Given the description of an element on the screen output the (x, y) to click on. 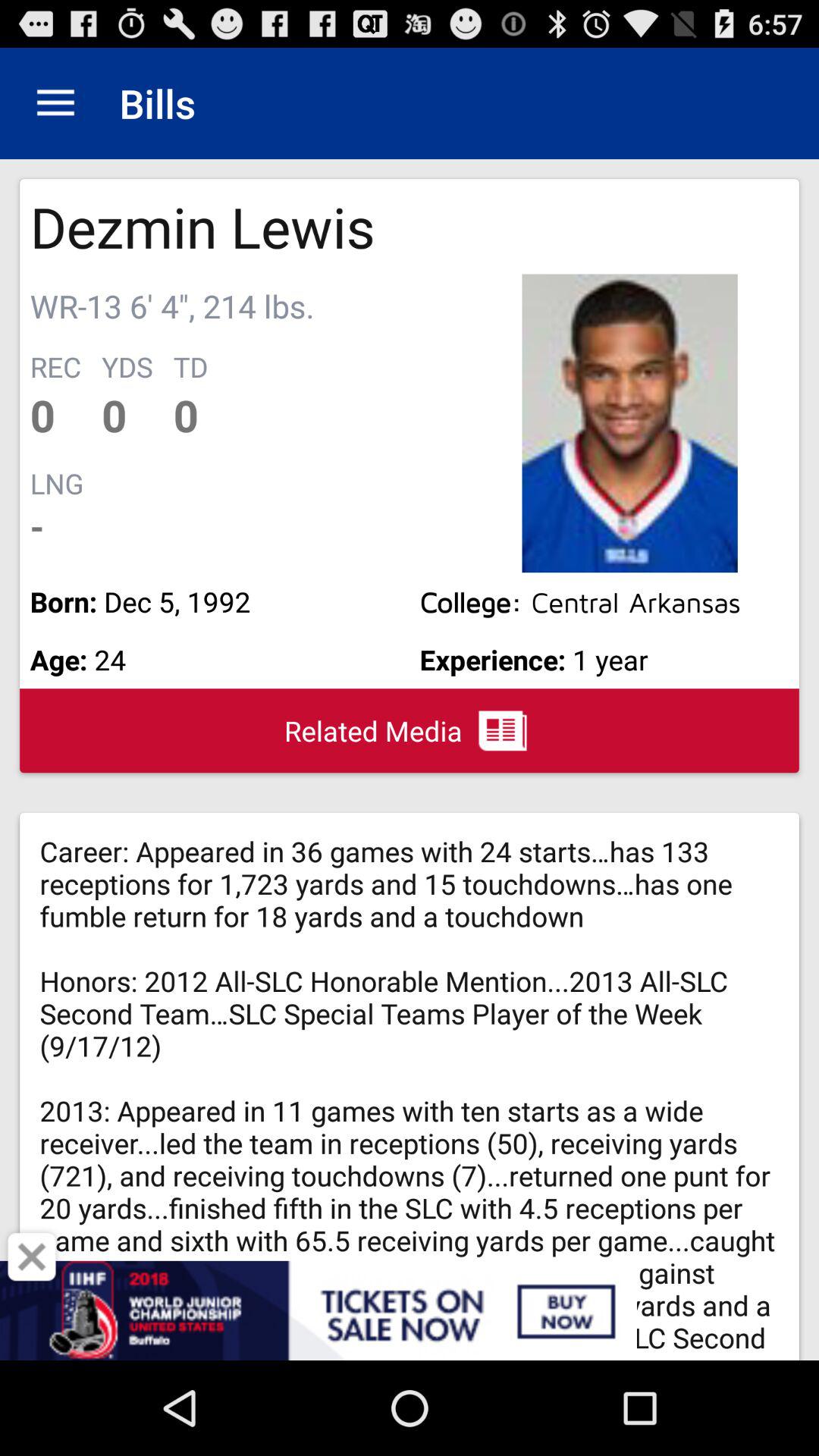
click the icon at the bottom left corner (31, 1256)
